Given the description of an element on the screen output the (x, y) to click on. 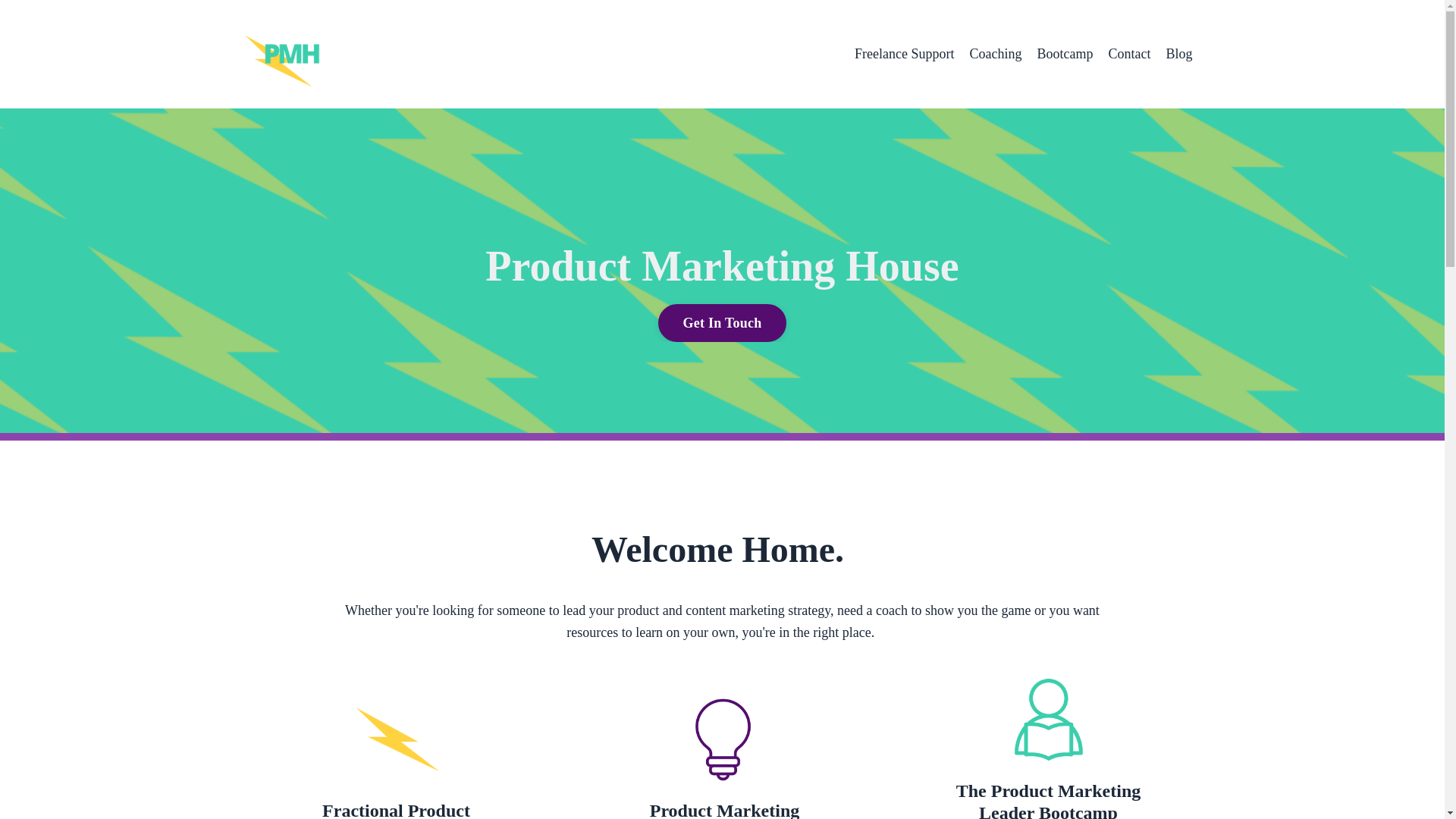
Contact (1129, 54)
Coaching (995, 54)
Bootcamp (1064, 54)
Blog (1179, 54)
Get In Touch (722, 322)
Freelance Support (903, 54)
